Given the description of an element on the screen output the (x, y) to click on. 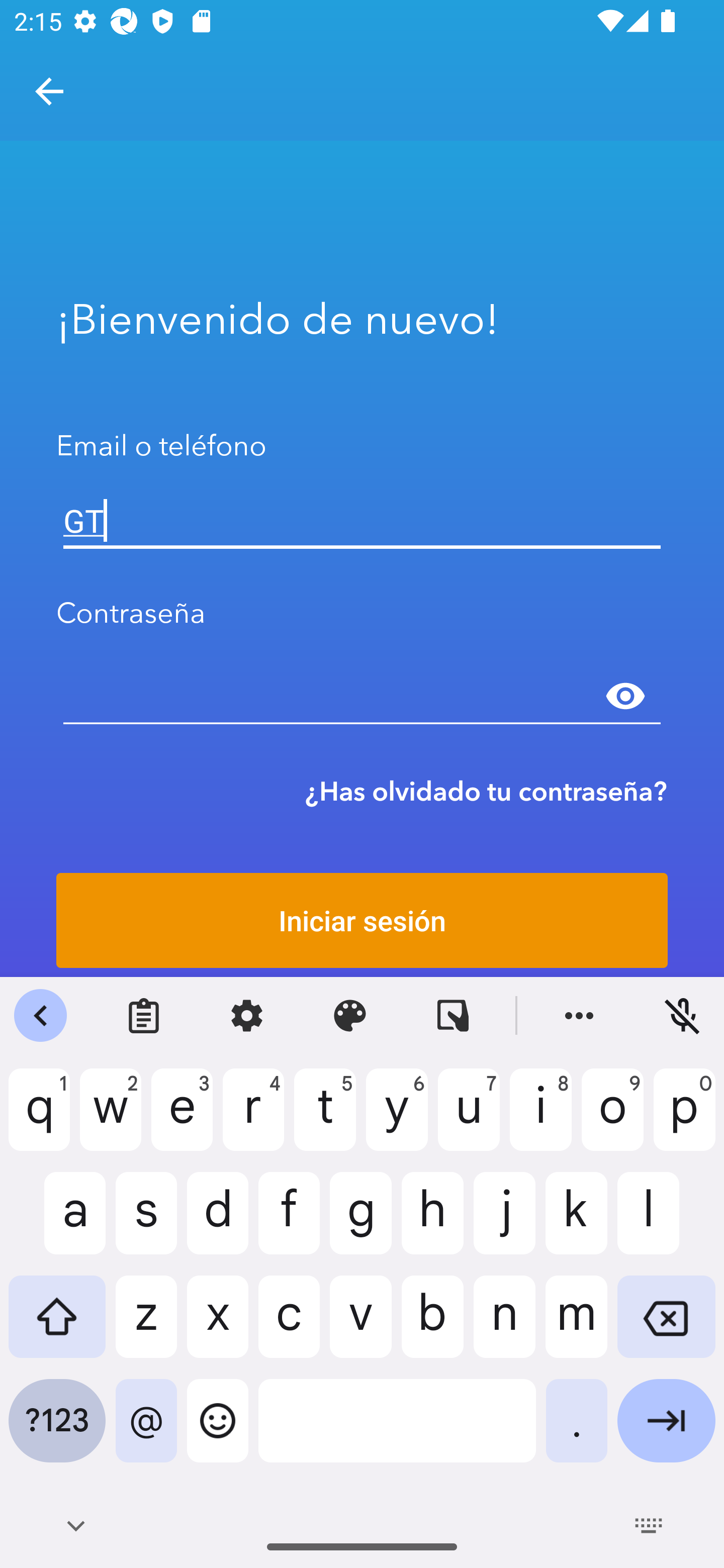
Navegar hacia arriba (49, 91)
GT (361, 521)
Mostrar contraseña (625, 695)
¿Has olvidado tu contraseña? (486, 790)
Iniciar sesión (361, 920)
